Given the description of an element on the screen output the (x, y) to click on. 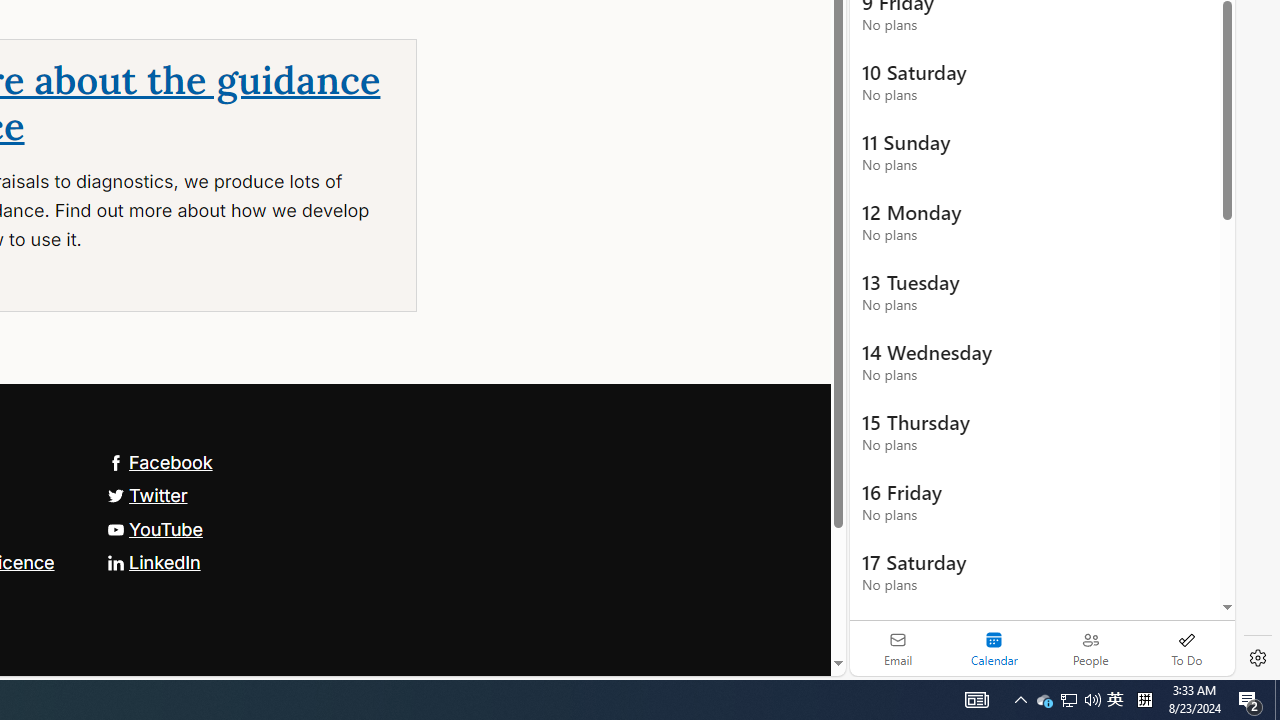
Selected calendar module. Date today is 22 (994, 648)
Twitter (147, 494)
Email (898, 648)
YouTube (154, 528)
Settings (1258, 658)
To Do (1186, 648)
LinkedIn (153, 561)
People (1090, 648)
